Given the description of an element on the screen output the (x, y) to click on. 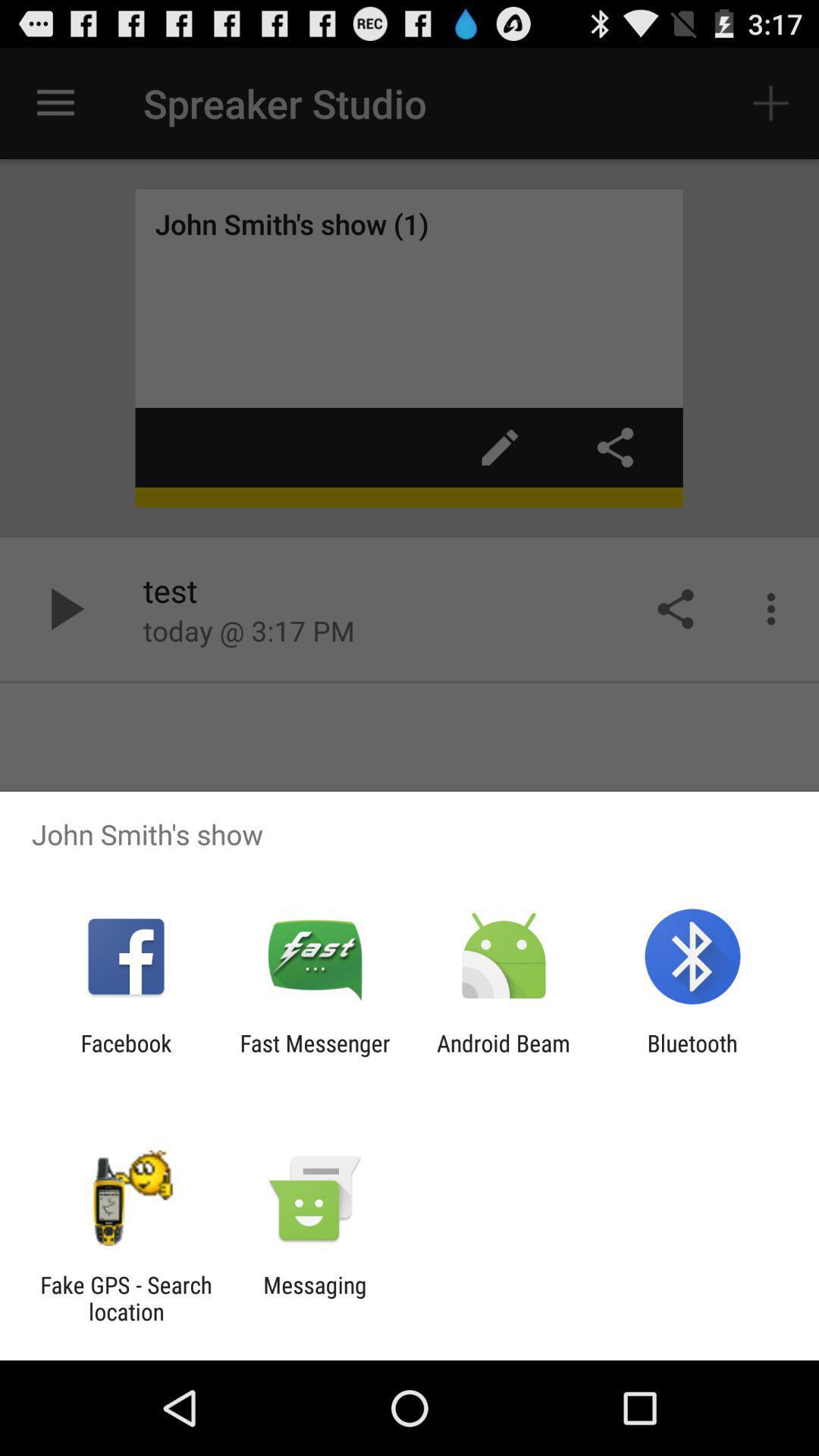
select fake gps search item (125, 1298)
